Given the description of an element on the screen output the (x, y) to click on. 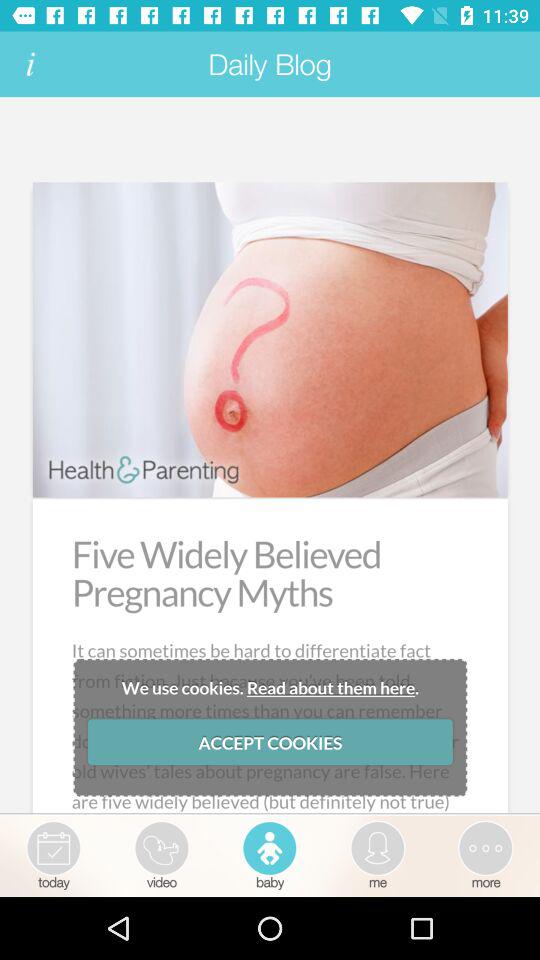
question simple (270, 456)
